Given the description of an element on the screen output the (x, y) to click on. 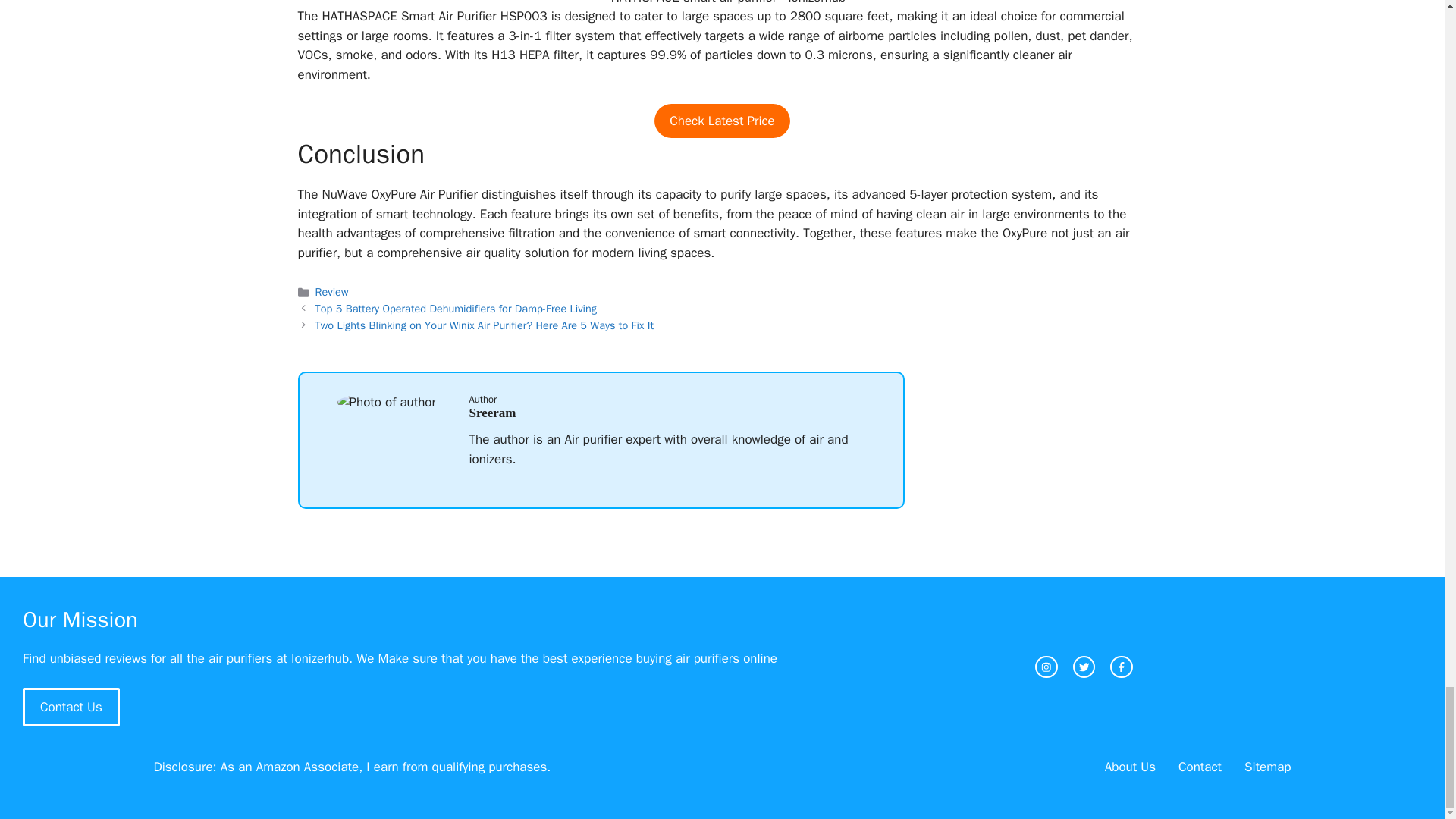
Review (332, 291)
Contact (1199, 767)
Top 5 Battery Operated Dehumidifiers for Damp-Free Living (455, 308)
Sitemap (1267, 767)
Contact Us (71, 707)
Check Latest Price (721, 121)
About Us (1130, 767)
